Given the description of an element on the screen output the (x, y) to click on. 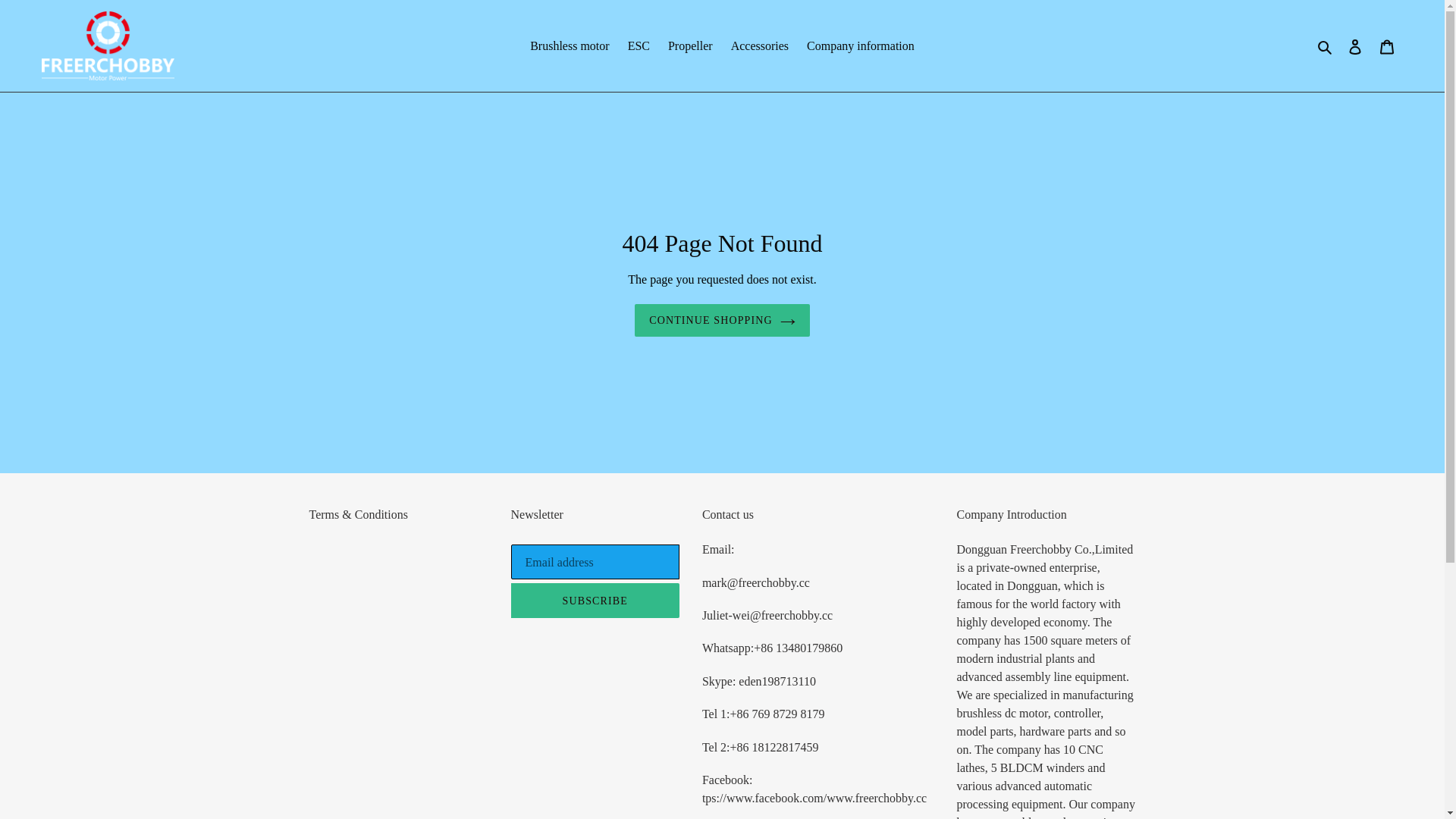
Propeller Element type: text (690, 45)
ESC Element type: text (638, 45)
CONTINUE SHOPPING Element type: text (721, 320)
Cart Element type: text (1386, 45)
Search Element type: text (1325, 46)
Brushless motor Element type: text (569, 45)
Company information Element type: text (860, 45)
Accessories Element type: text (759, 45)
SUBSCRIBE Element type: text (595, 600)
Log in Element type: text (1355, 45)
